Given the description of an element on the screen output the (x, y) to click on. 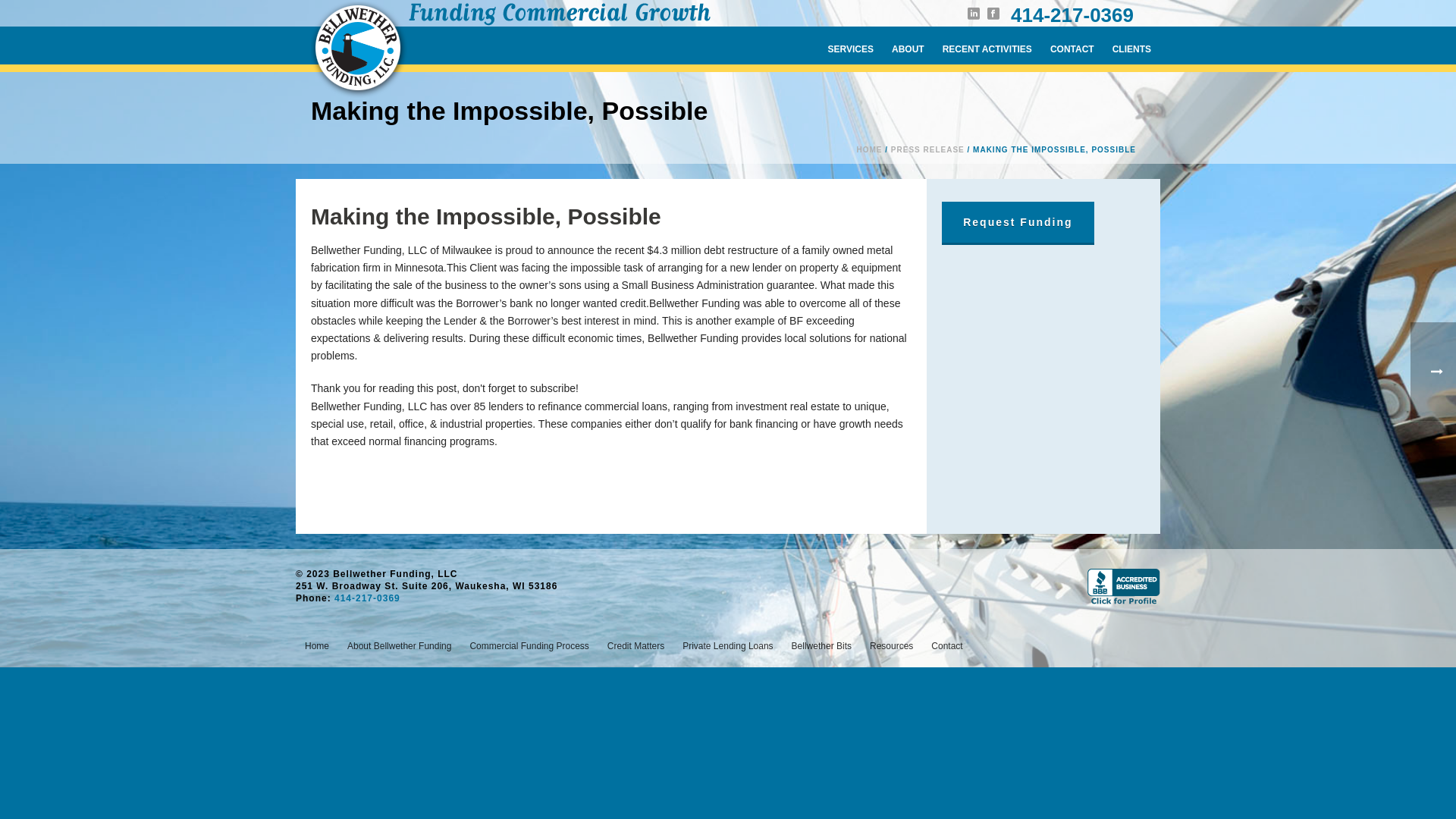
SERVICES (850, 45)
CONTACT (1072, 45)
RECENT ACTIVITIES (987, 45)
CLIENTS (1131, 45)
414-217-0369 (1072, 15)
ABOUT (907, 45)
Bellwether Tagline (559, 14)
CLIENTS (1131, 45)
Funding Commercial Growth (359, 49)
RECENT ACTIVITIES (987, 45)
